Given the description of an element on the screen output the (x, y) to click on. 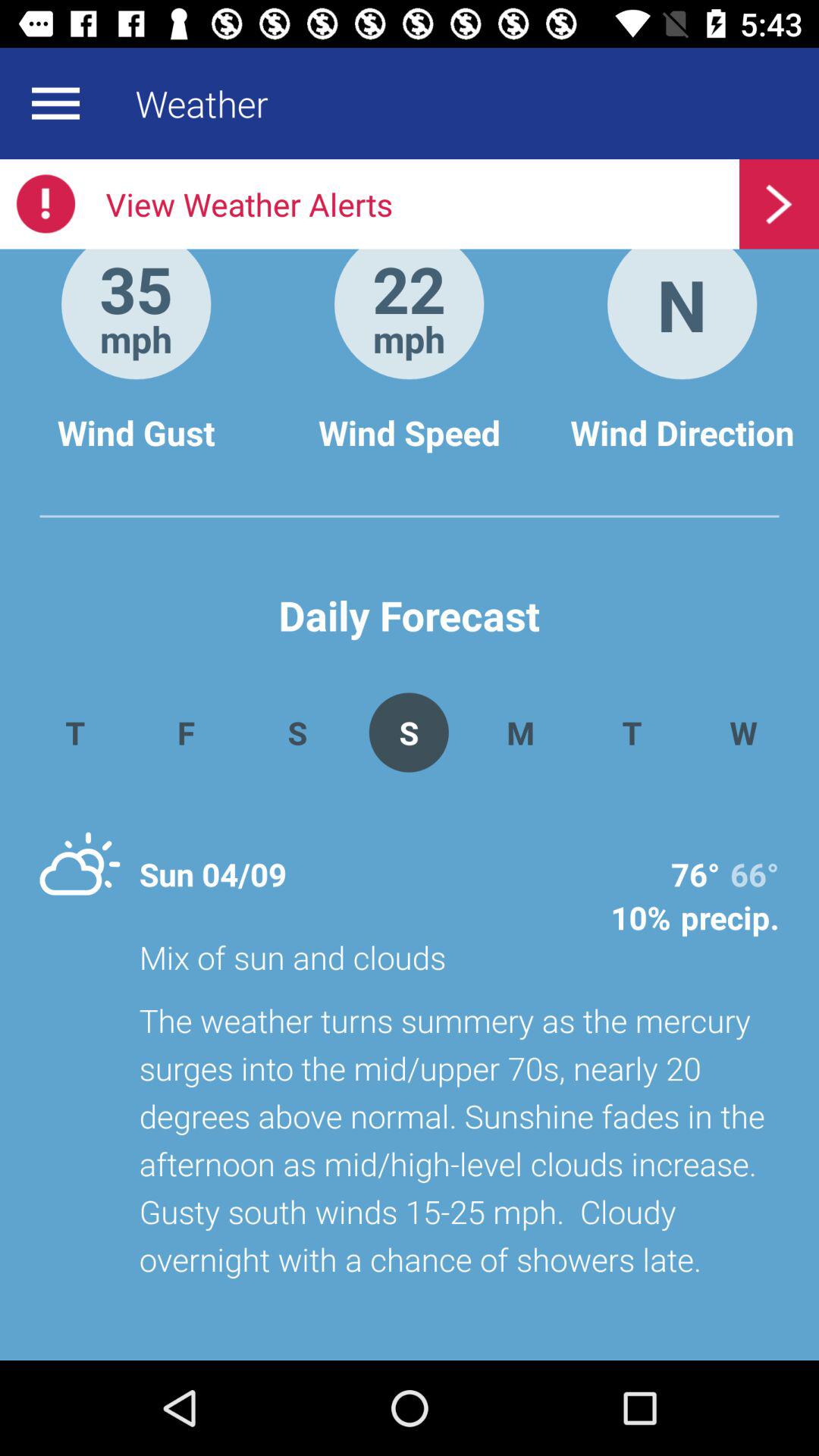
scroll to w app (743, 732)
